Given the description of an element on the screen output the (x, y) to click on. 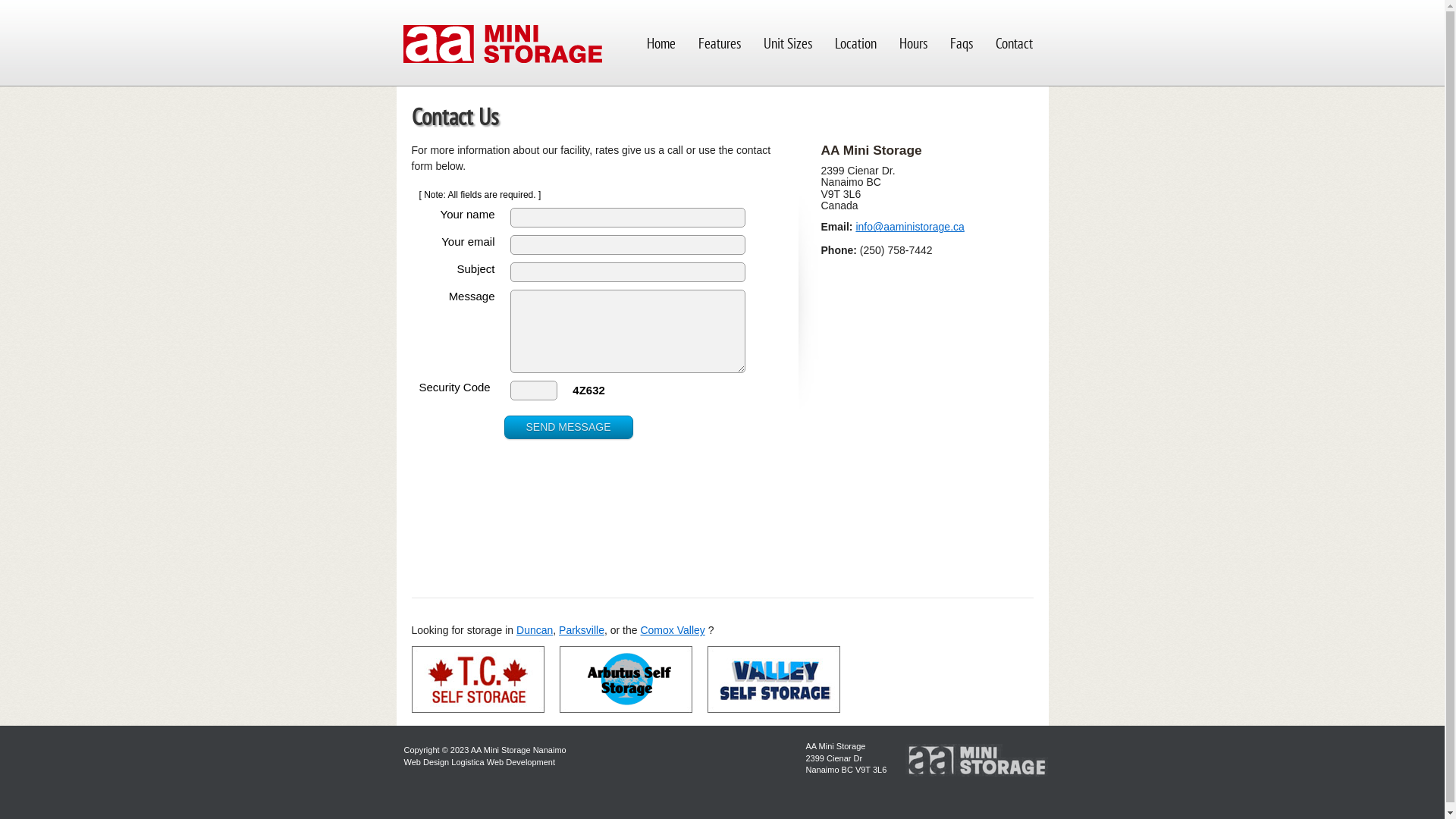
SEND MESSAGE Element type: text (567, 427)
Unit Sizes Element type: text (787, 43)
Location Element type: text (855, 43)
Features Element type: text (719, 43)
Parksville Element type: text (581, 630)
AA Mini Self Storage Nanaimo BC Element type: text (501, 45)
AA Mini Storage Nanaimo Element type: text (518, 749)
Comox Valley Element type: text (672, 630)
Faqs Element type: text (961, 43)
Hours Element type: text (912, 43)
Contact Element type: text (1014, 43)
Logistica Web Development Element type: text (503, 761)
info@aaministorage.ca Element type: text (909, 226)
Home Element type: text (661, 43)
Duncan Element type: text (534, 630)
